Given the description of an element on the screen output the (x, y) to click on. 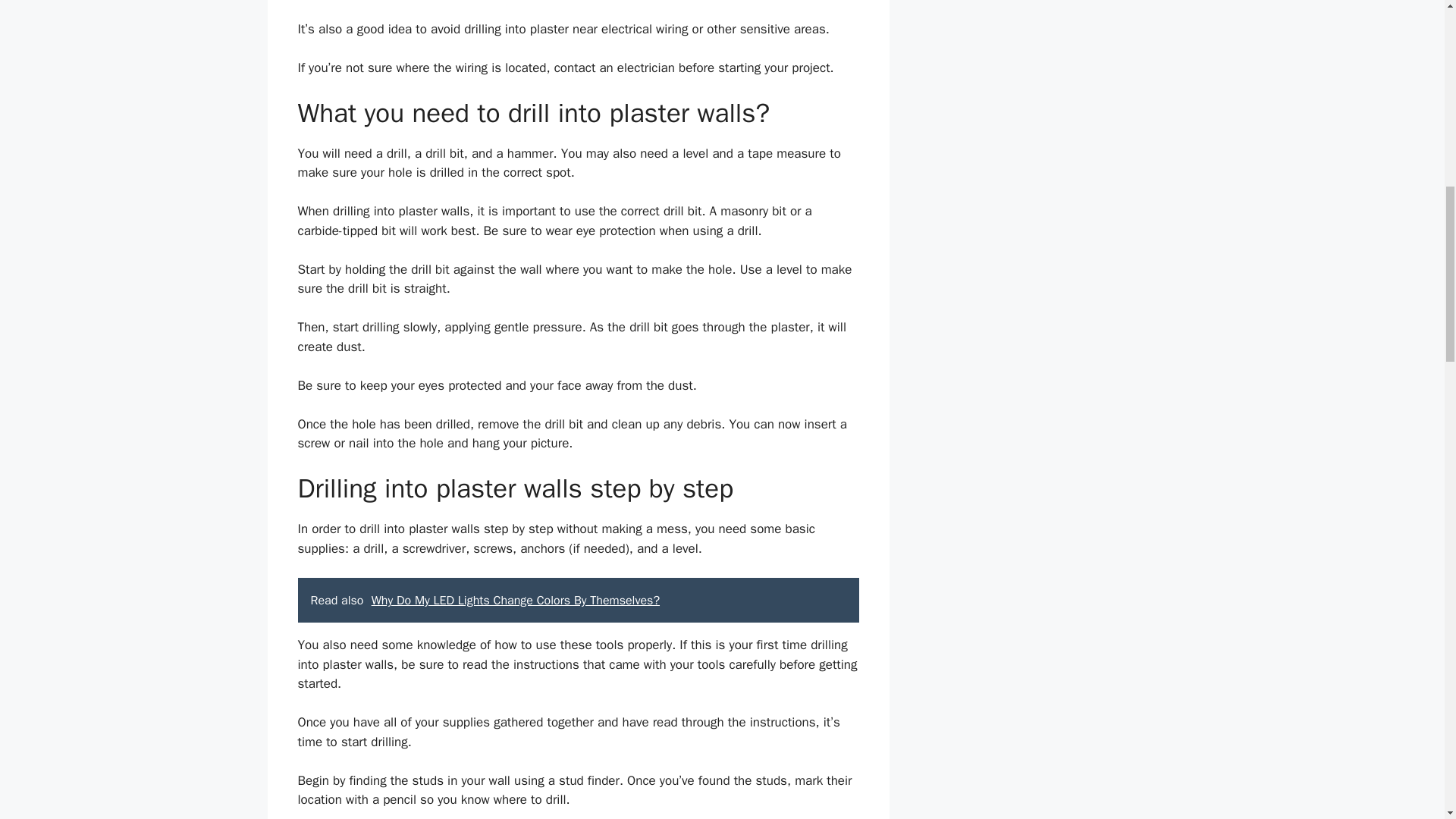
Read also  Why Do My LED Lights Change Colors By Themselves? (578, 600)
